Given the description of an element on the screen output the (x, y) to click on. 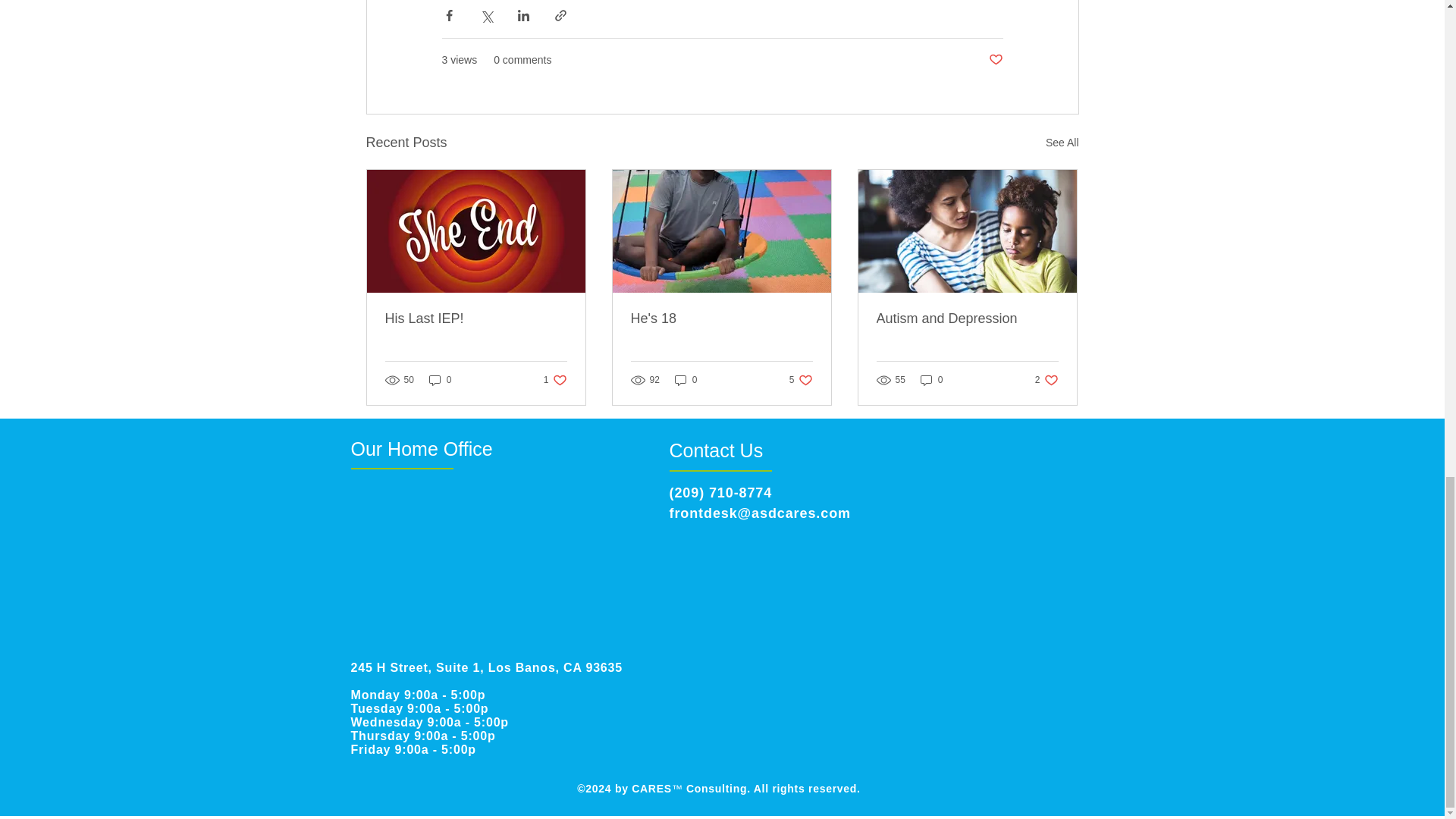
0 (440, 380)
He's 18 (721, 318)
His Last IEP! (476, 318)
See All (1061, 142)
0 (685, 380)
Post not marked as liked (995, 59)
